Given the description of an element on the screen output the (x, y) to click on. 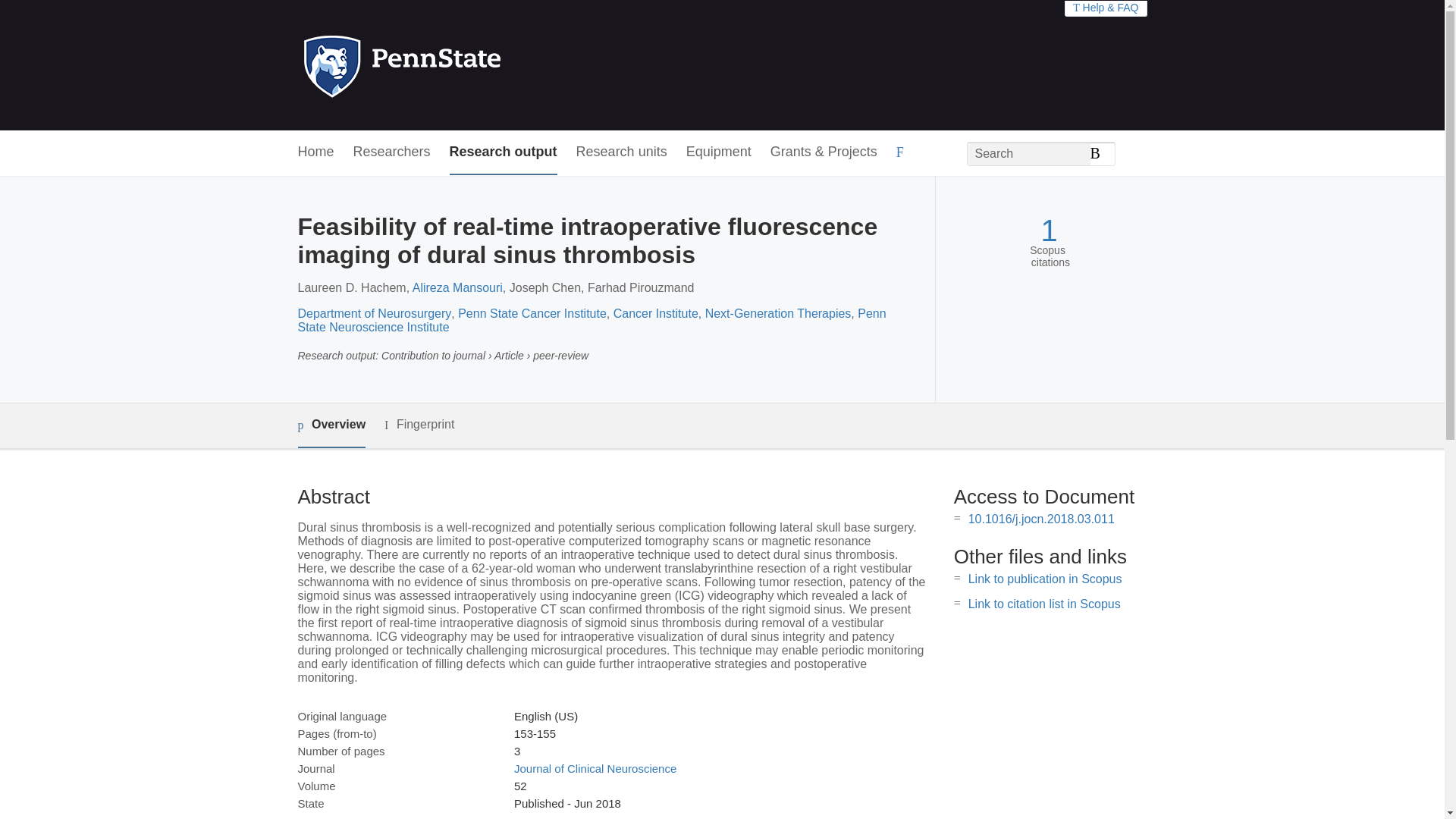
Fingerprint (419, 424)
Research units (621, 152)
Penn State Cancer Institute (532, 313)
Department of Neurosurgery (374, 313)
Cancer Institute, Next-Generation Therapies (731, 313)
Link to publication in Scopus (1045, 578)
Research output (503, 152)
Penn State Home (467, 65)
Researchers (391, 152)
Overview (331, 425)
Link to citation list in Scopus (1044, 603)
Equipment (718, 152)
Alireza Mansouri (457, 287)
Penn State Neuroscience Institute (591, 320)
